Given the description of an element on the screen output the (x, y) to click on. 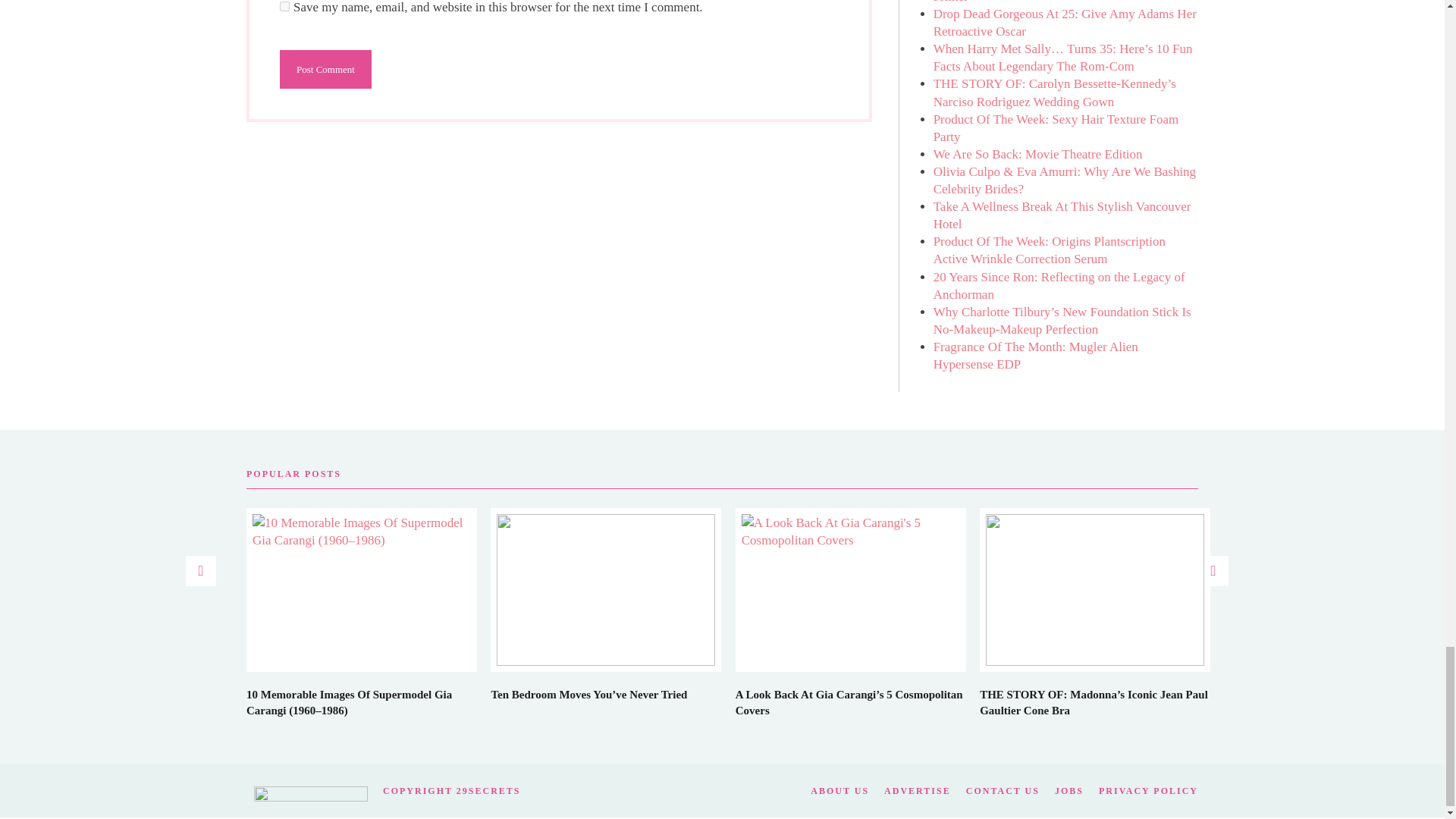
yes (284, 6)
Post Comment (325, 68)
